Given the description of an element on the screen output the (x, y) to click on. 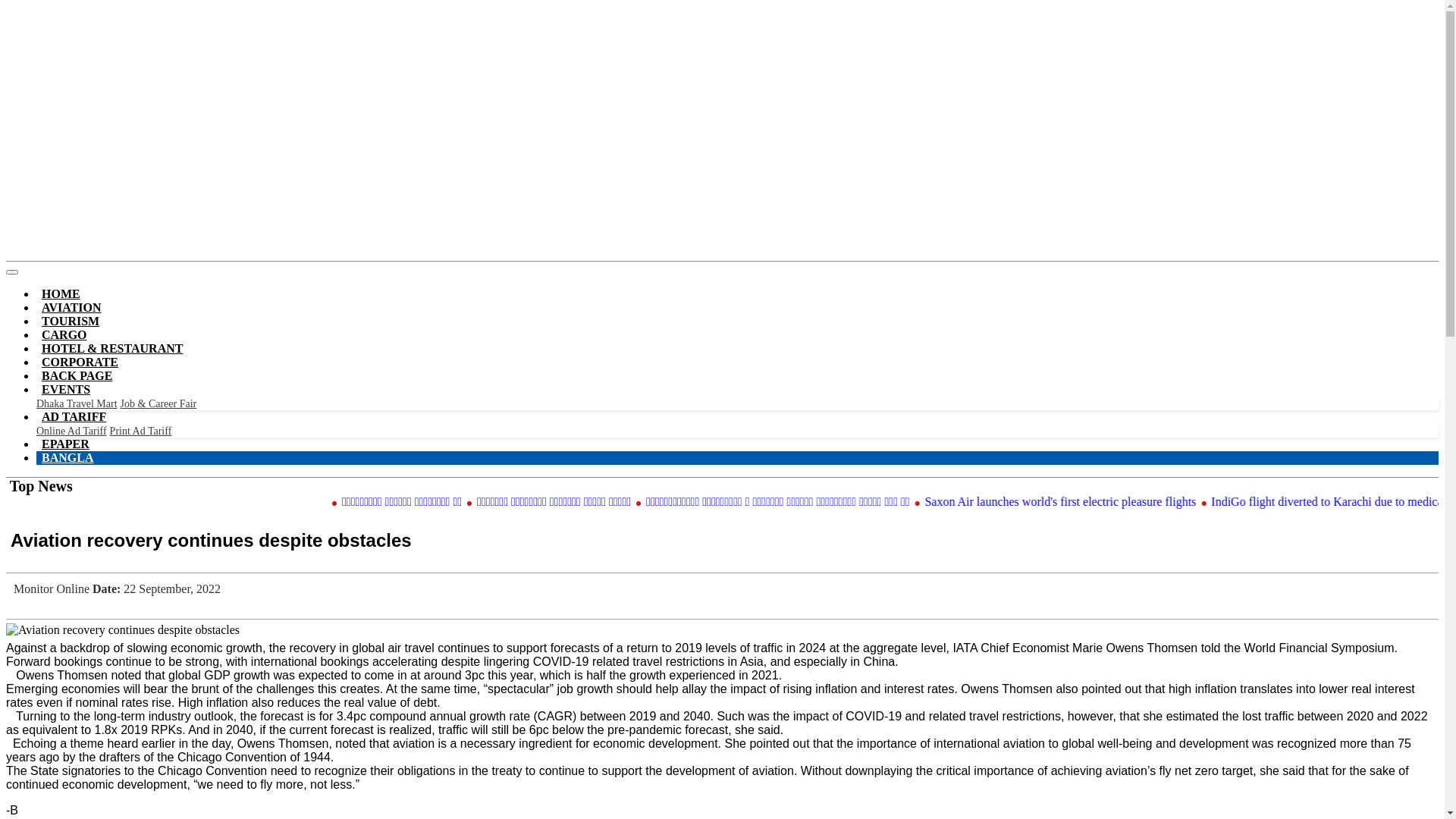
CORPORATE Element type: text (79, 361)
Print Ad Tariff Element type: text (140, 430)
CARGO Element type: text (64, 334)
AD TARIFF Element type: text (73, 416)
Saxon Air launches world's first electric pleasure flights Element type: text (1138, 501)
EPAPER Element type: text (65, 443)
TOURISM Element type: text (70, 320)
HOTEL & RESTAURANT Element type: text (112, 348)
Aviation recovery continues despite obstacles Element type: hover (122, 630)
BACK PAGE Element type: text (76, 375)
RSS Element type: text (252, 24)
EVENTS Element type: text (65, 388)
HOME Element type: text (60, 293)
Job & Career Fair Element type: text (158, 403)
About us Element type: text (35, 24)
AVIATION Element type: text (71, 307)
BANGLA Element type: text (67, 457)
Contact us Element type: text (101, 24)
Advertisement Element type: hover (721, 146)
Dhaka Travel Mart Element type: text (76, 403)
Online Ad Tariff Element type: text (71, 430)
Privacy Element type: text (162, 24)
Terms Element type: text (211, 24)
